Given the description of an element on the screen output the (x, y) to click on. 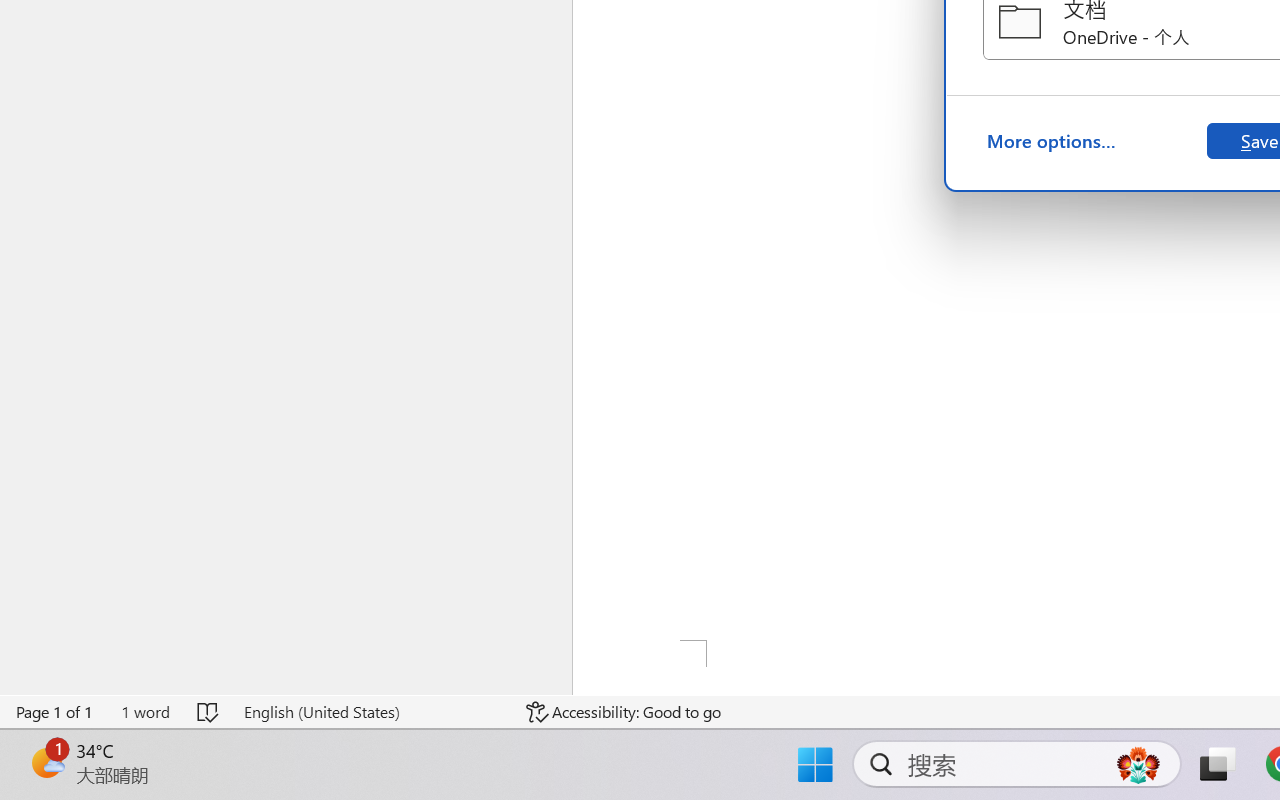
Spelling and Grammar Check No Errors (208, 712)
AutomationID: BadgeAnchorLargeTicker (46, 762)
Word Count 1 word (145, 712)
Page Number Page 1 of 1 (55, 712)
Language English (United States) (370, 712)
AutomationID: DynamicSearchBoxGleamImage (1138, 764)
Accessibility Checker Accessibility: Good to go (623, 712)
